Given the description of an element on the screen output the (x, y) to click on. 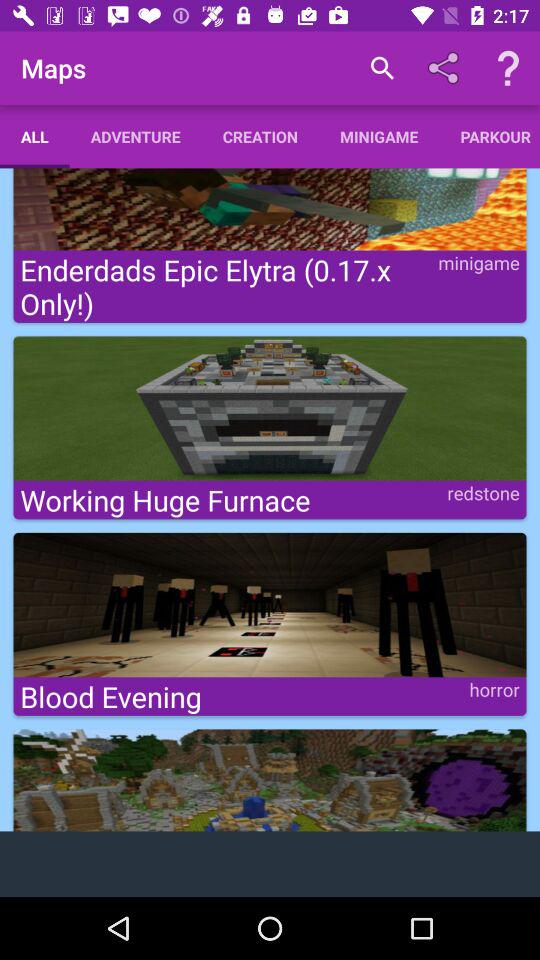
press the item next to minigame app (489, 136)
